Given the description of an element on the screen output the (x, y) to click on. 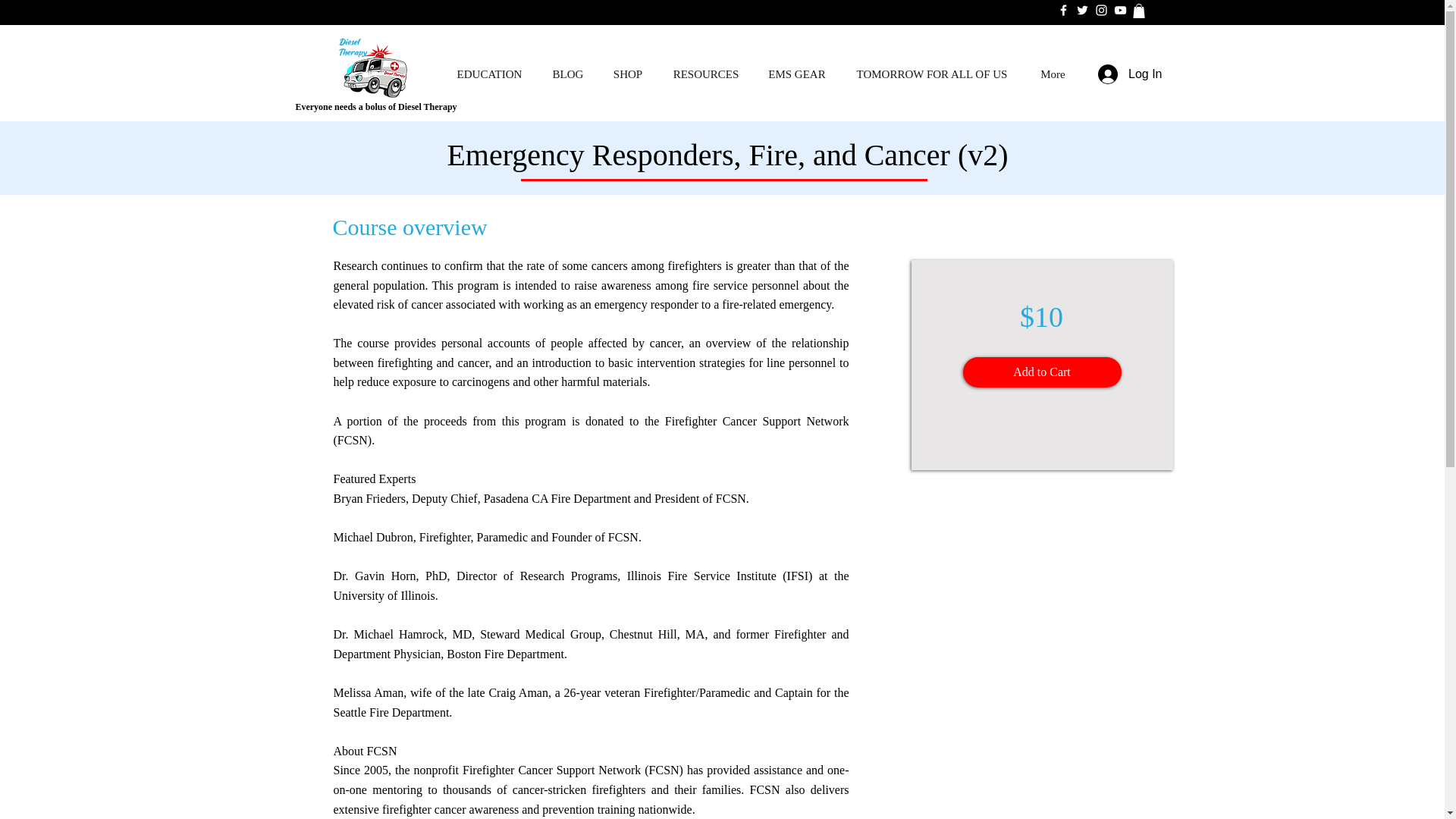
SHOP (627, 74)
Add to Cart (1041, 372)
TOMORROW FOR ALL OF US (932, 74)
EDUCATION (489, 74)
BLOG (568, 74)
EMS GEAR (797, 74)
RESOURCES (706, 74)
Log In (1129, 73)
